Given the description of an element on the screen output the (x, y) to click on. 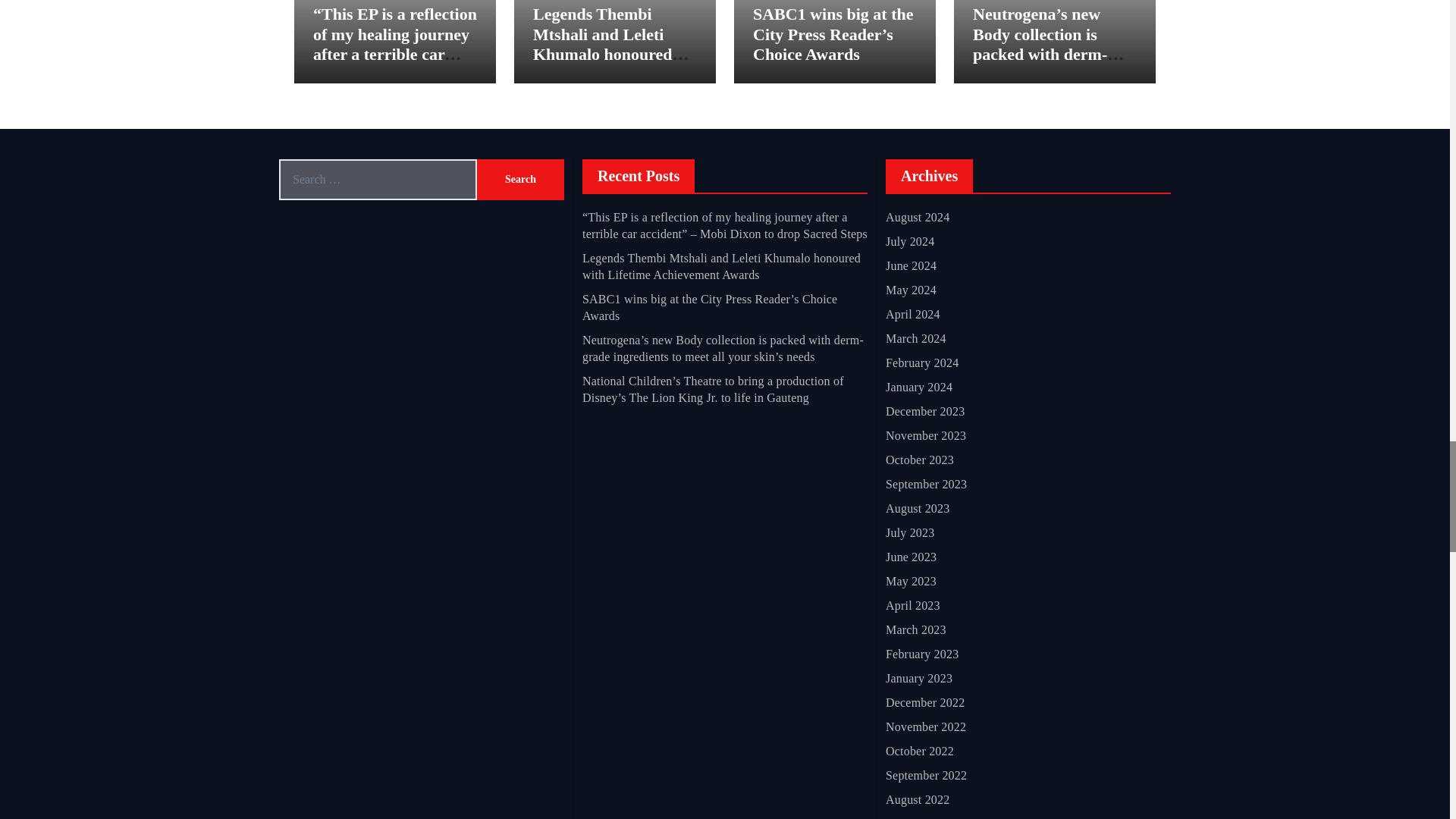
Search (520, 178)
Search (520, 178)
